Given the description of an element on the screen output the (x, y) to click on. 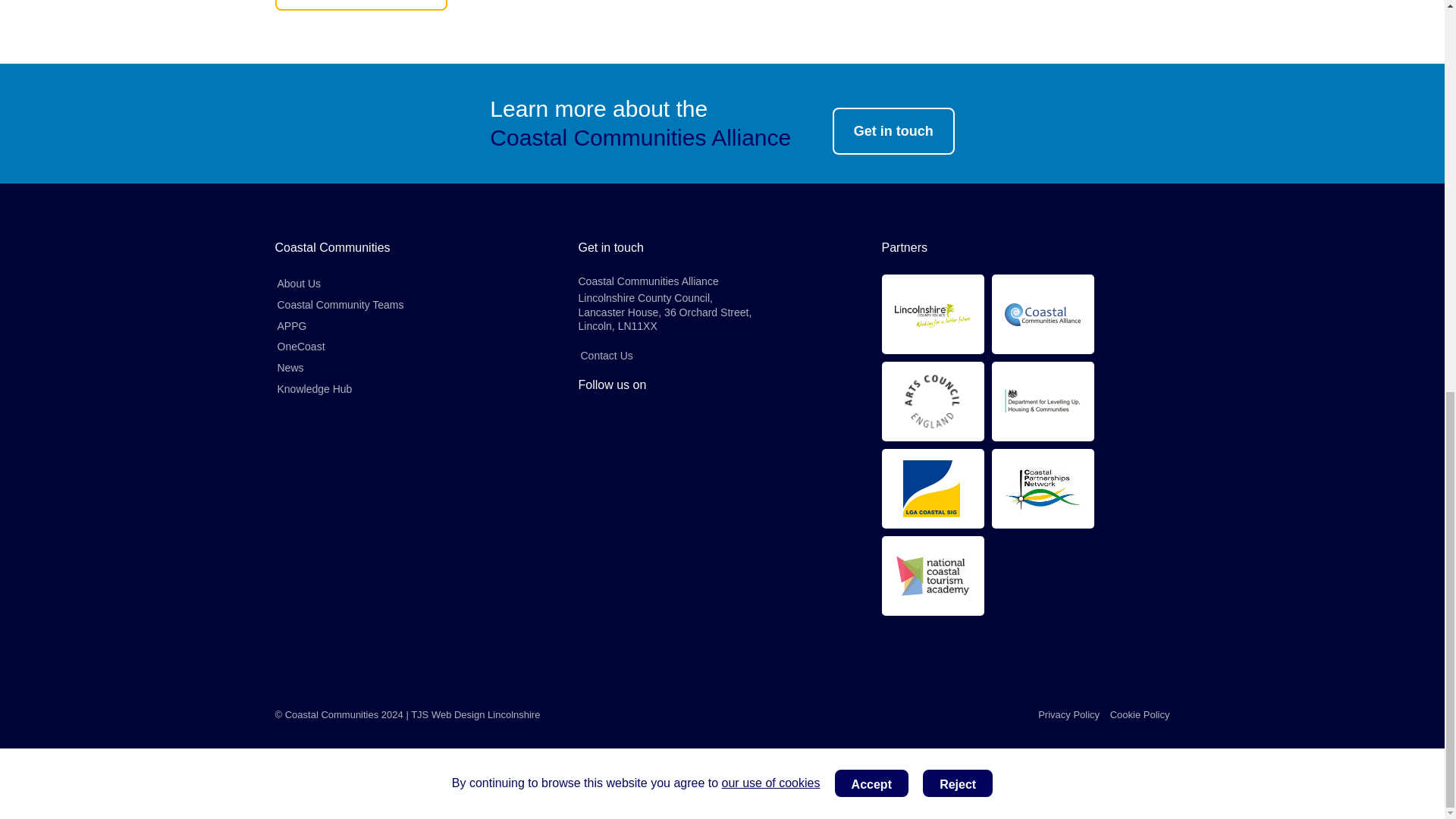
Knowledge Hub (314, 389)
OneCoast (300, 346)
Privacy Policy (1068, 714)
View economic plan (360, 5)
Coastal Community Teams (340, 304)
Cookie Policy (1139, 714)
Get in touch (893, 131)
About Us (299, 283)
our use of cookies (771, 33)
Reject (957, 33)
